Given the description of an element on the screen output the (x, y) to click on. 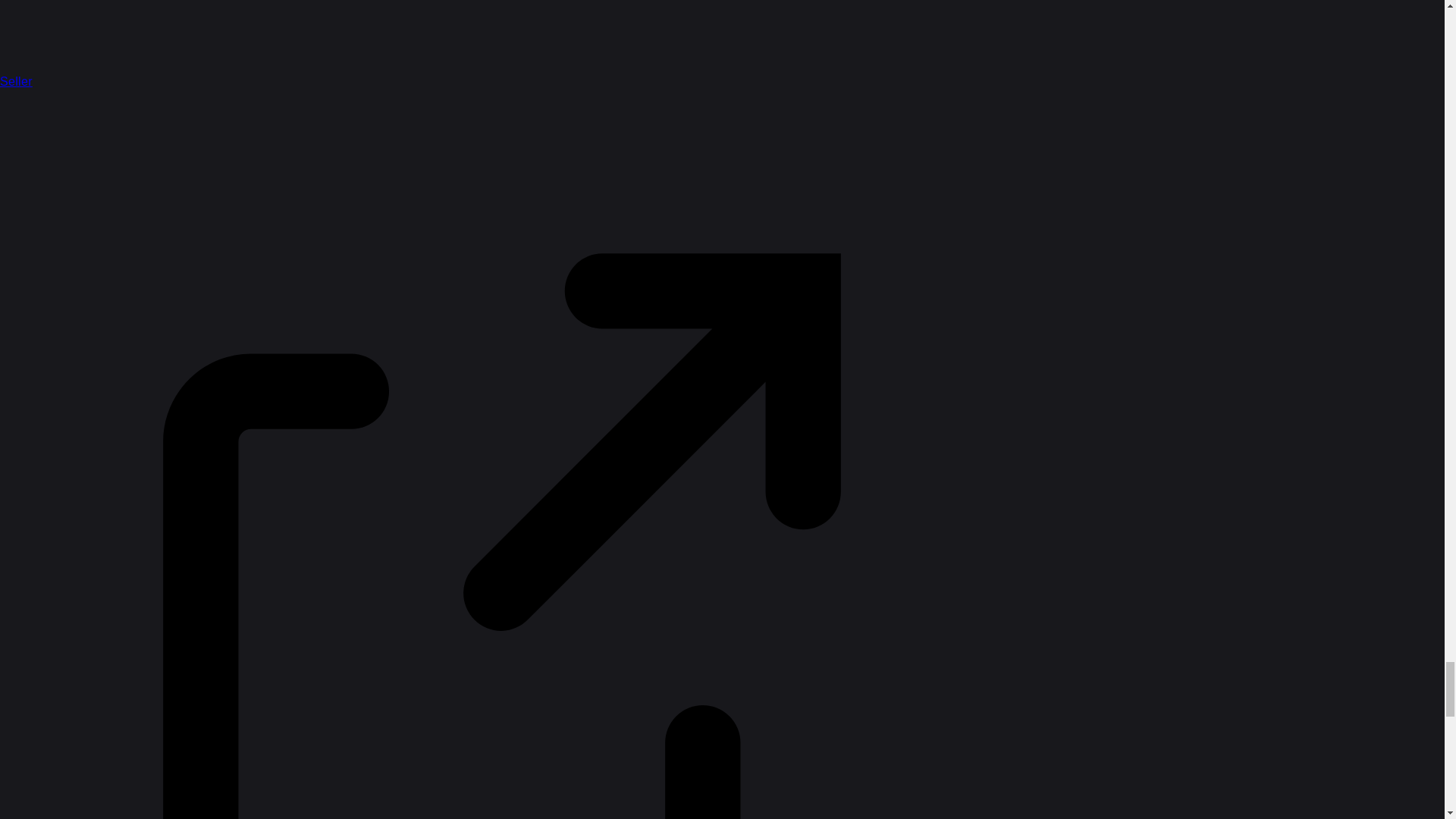
Forum (510, 93)
Kevin Maynard (466, 320)
reference (818, 198)
unreal-engine (680, 198)
2 Replies (585, 510)
content-broswer (918, 198)
Editor Scripting (603, 198)
Assets (776, 198)
expand topic details (1248, 568)
last reply (662, 557)
Sep 25, 2021 10:04 pm (583, 577)
Development (428, 198)
copy a link to this post to clipboard (1259, 509)
like this post (1229, 509)
